Given the description of an element on the screen output the (x, y) to click on. 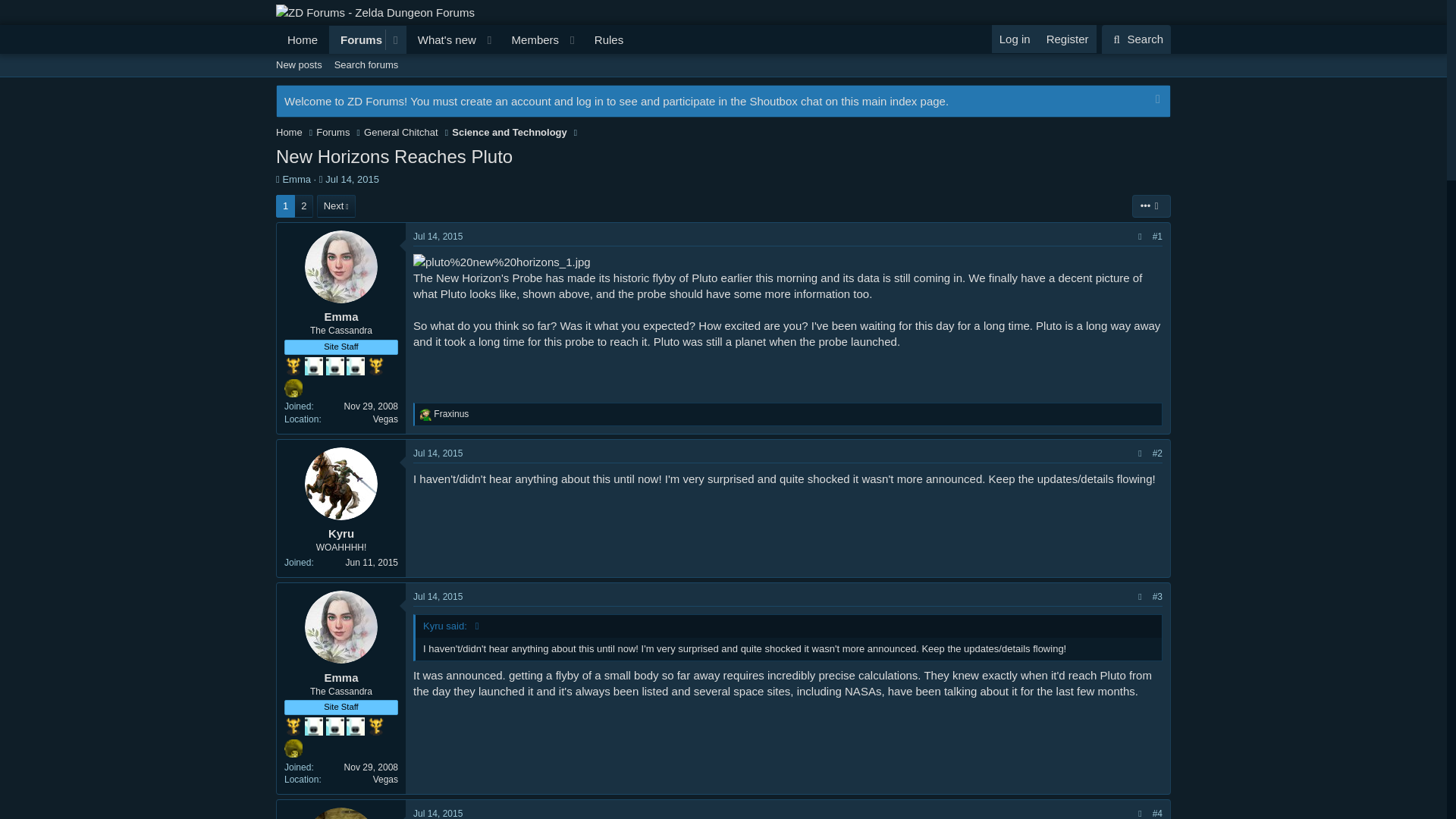
Home (302, 39)
General Chitchat (401, 132)
New posts (722, 82)
Forums (299, 65)
Jul 14, 2015 at 1:47 PM (357, 39)
What's new (438, 596)
More options (442, 39)
Rules (1151, 205)
Jul 14, 2015 at 1:38 PM (608, 39)
